Given the description of an element on the screen output the (x, y) to click on. 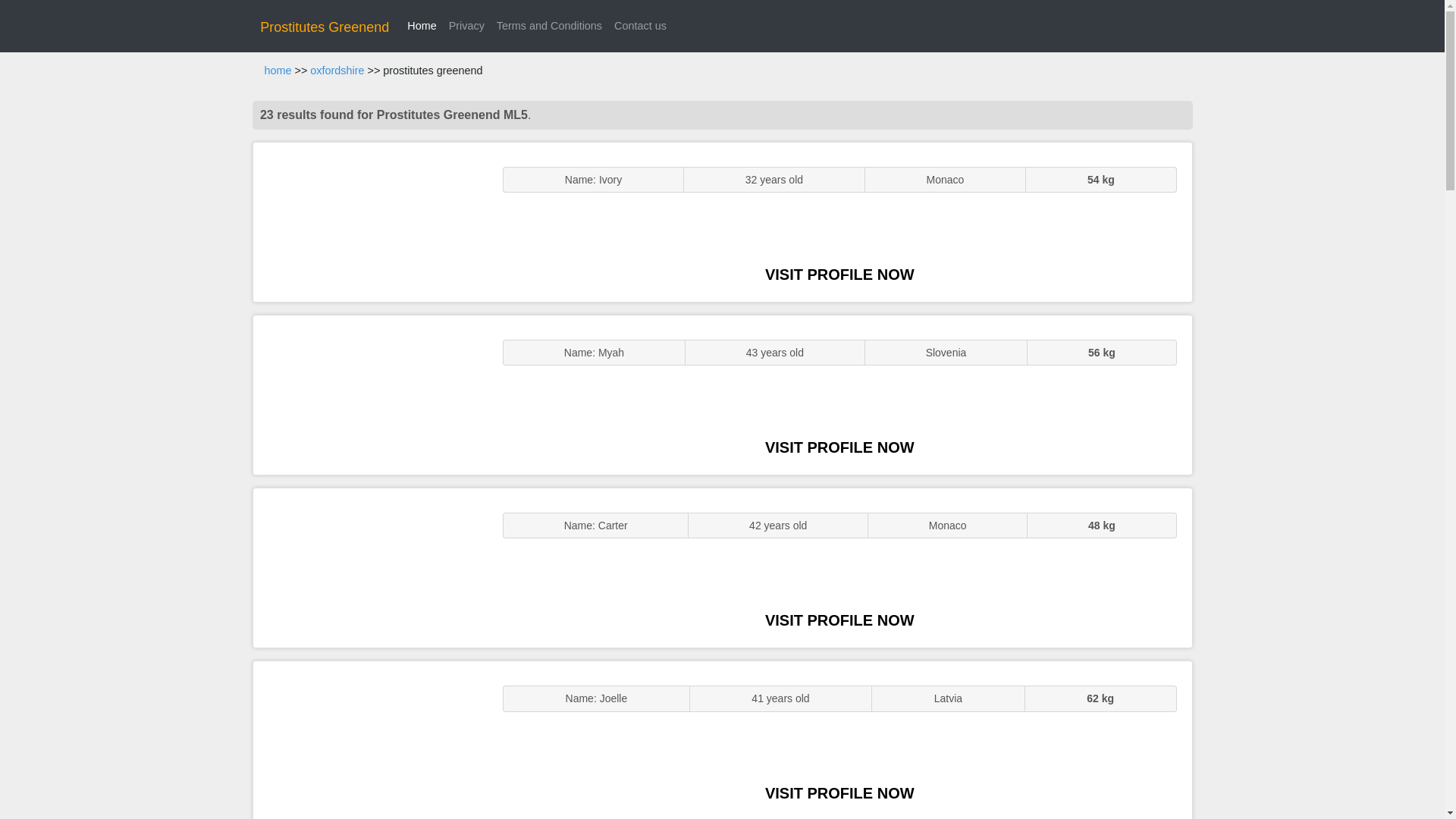
Sexy (370, 567)
VISIT PROFILE NOW (839, 792)
oxfordshire (337, 70)
Terms and Conditions (549, 25)
Privacy (466, 25)
VISIT PROFILE NOW (839, 619)
home (277, 70)
VISIT PROFILE NOW (839, 446)
GFE (370, 395)
 ENGLISH STUNNER (370, 222)
